Given the description of an element on the screen output the (x, y) to click on. 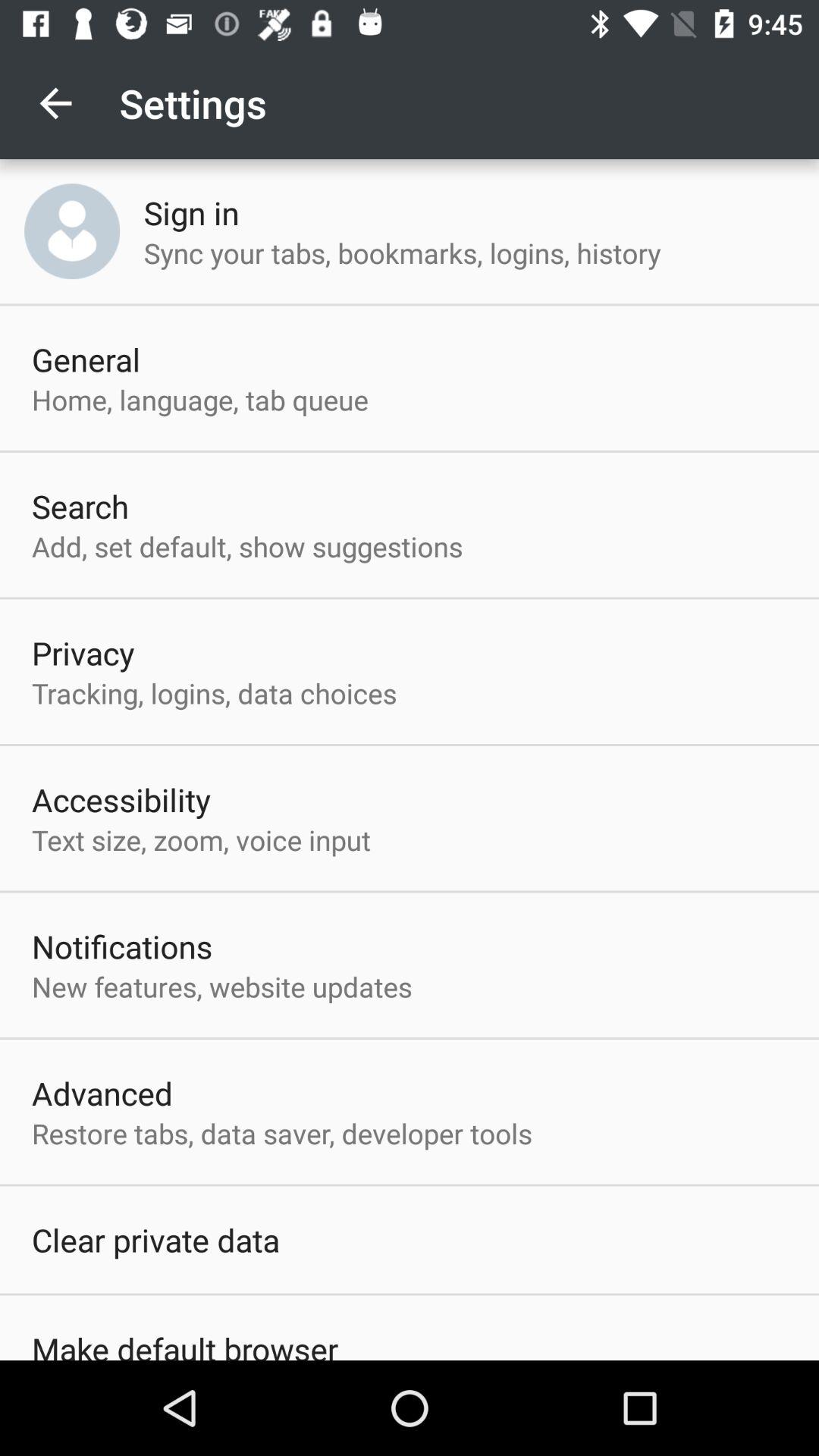
turn on item above the sync your tabs icon (191, 212)
